Given the description of an element on the screen output the (x, y) to click on. 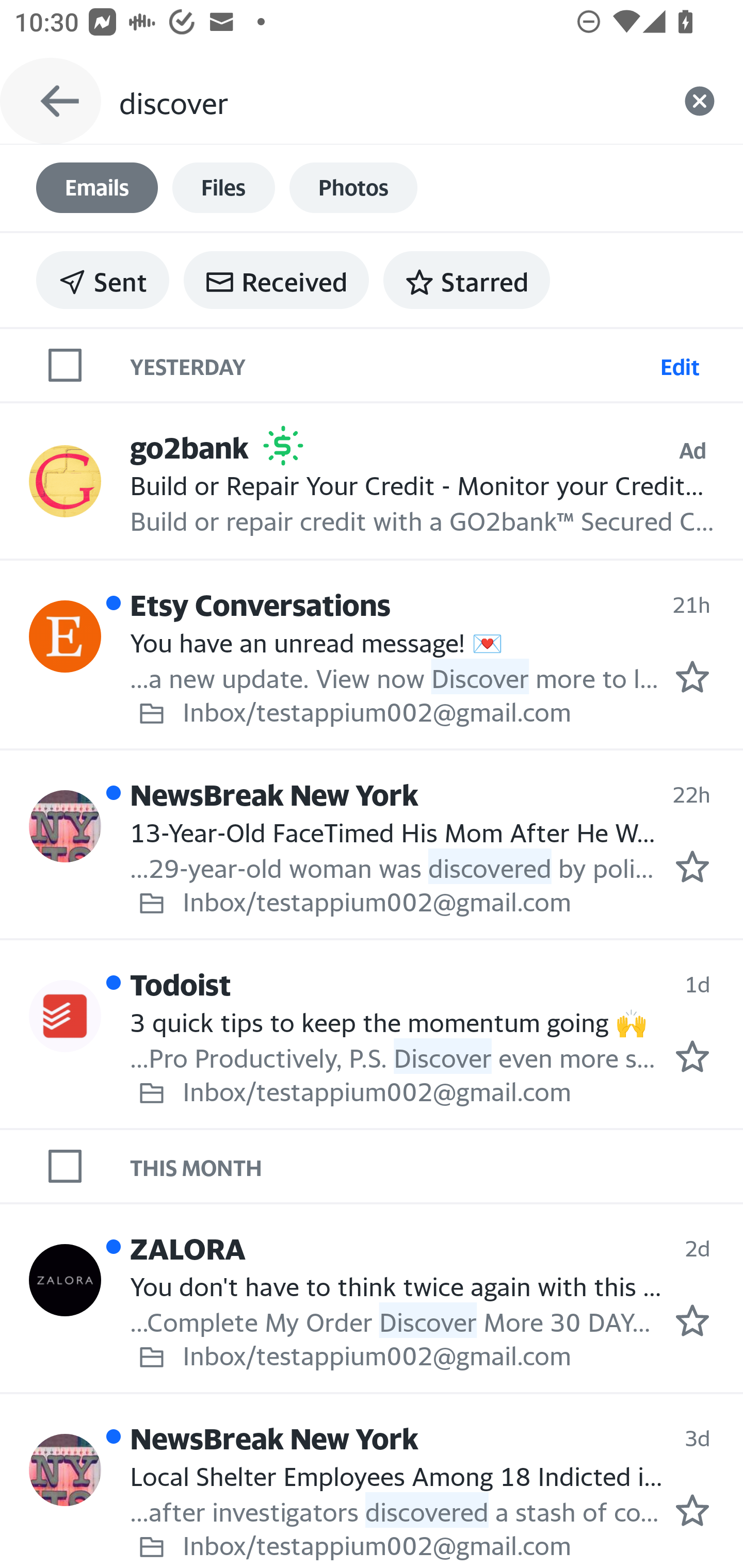
Back (50, 101)
discover (387, 101)
Clear (699, 101)
Emails (96, 188)
Files (223, 188)
Photos (353, 188)
Sent (102, 279)
Received (276, 279)
Starred (466, 279)
YESTERDAY (391, 364)
Edit Select emails (679, 364)
Sponsored (282, 445)
Ad (692, 449)
Profile
Etsy Conversations (64, 636)
Mark as starred. (692, 676)
Profile
NewsBreak New York (64, 826)
Mark as starred. (692, 866)
Profile
Todoist (64, 1016)
Mark as starred. (692, 1056)
THIS MONTH (436, 1165)
Profile
ZALORA (64, 1279)
Mark as starred. (692, 1321)
Profile
NewsBreak New York (64, 1469)
Mark as starred. (692, 1510)
